Given the description of an element on the screen output the (x, y) to click on. 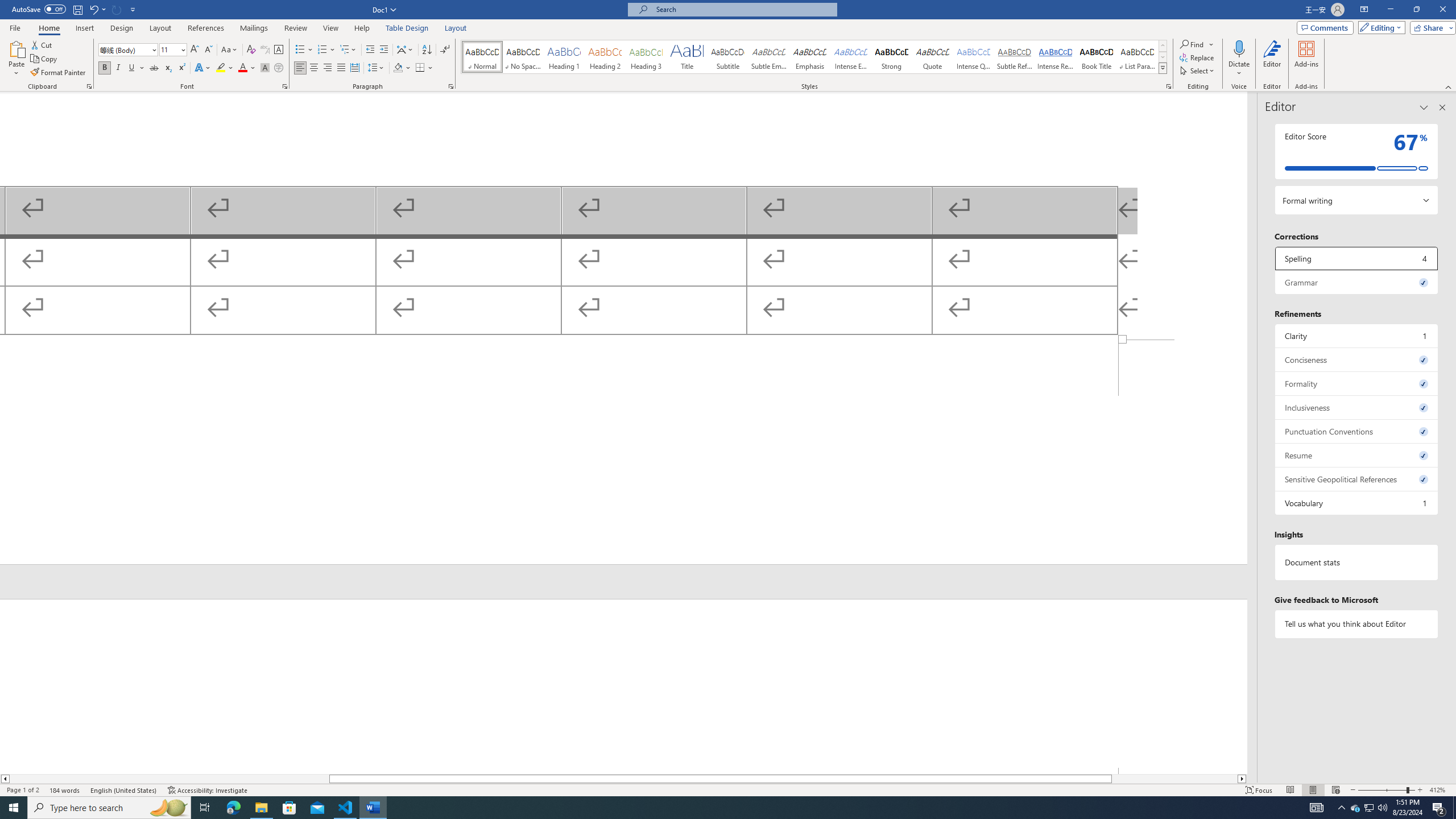
Bold (104, 67)
Vocabulary, 1 issue. Press space or enter to review items. (1356, 502)
Increase Indent (383, 49)
Clarity, 1 issue. Press space or enter to review items. (1356, 335)
Spelling, 4 issues. Press space or enter to review items. (1356, 258)
Conciseness, 0 issues. Press space or enter to review items. (1356, 359)
Shrink Font (208, 49)
Office Clipboard... (88, 85)
Multilevel List (347, 49)
Styles (1162, 67)
